Given the description of an element on the screen output the (x, y) to click on. 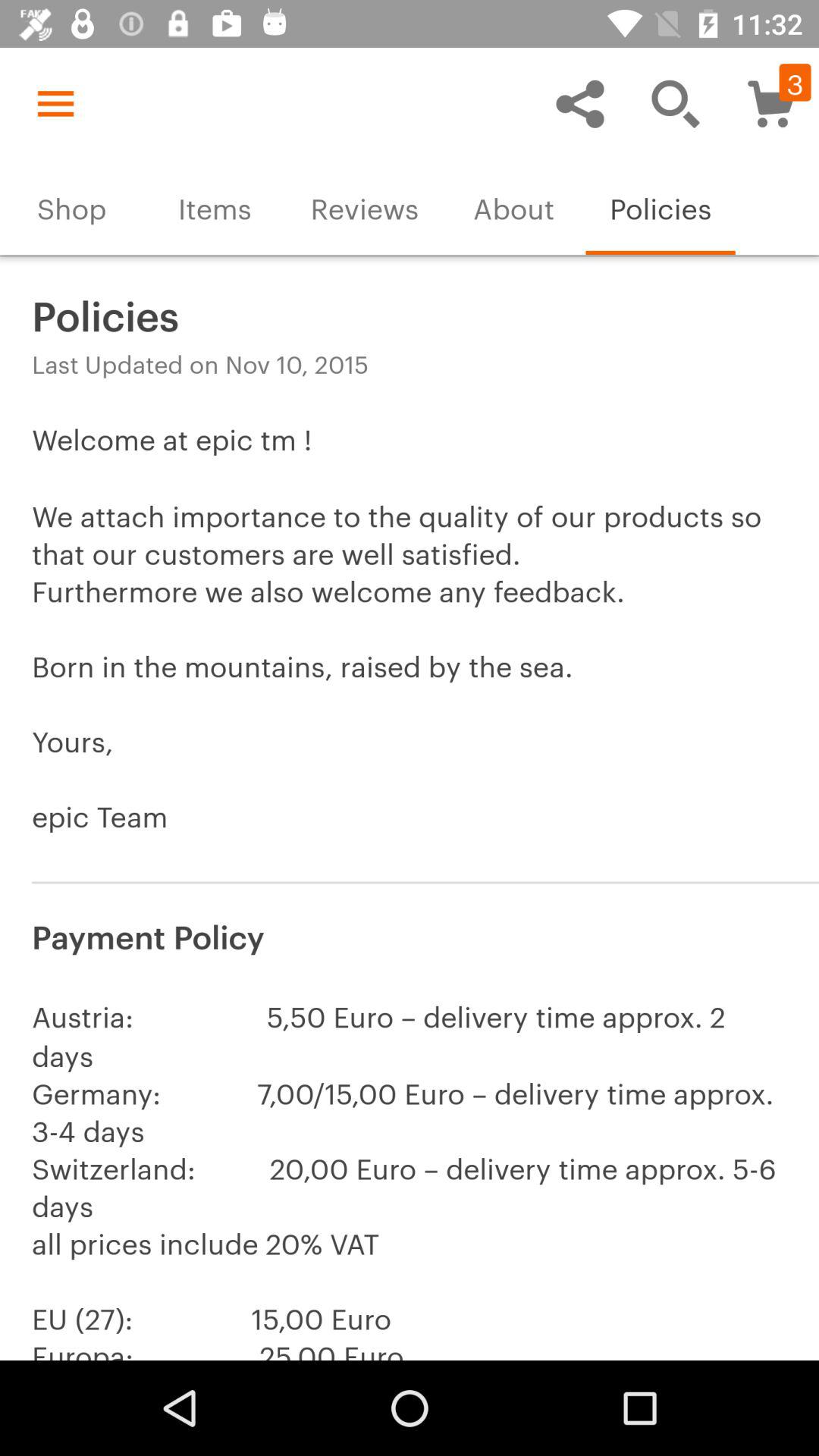
launch item above payment policy icon (409, 646)
